Given the description of an element on the screen output the (x, y) to click on. 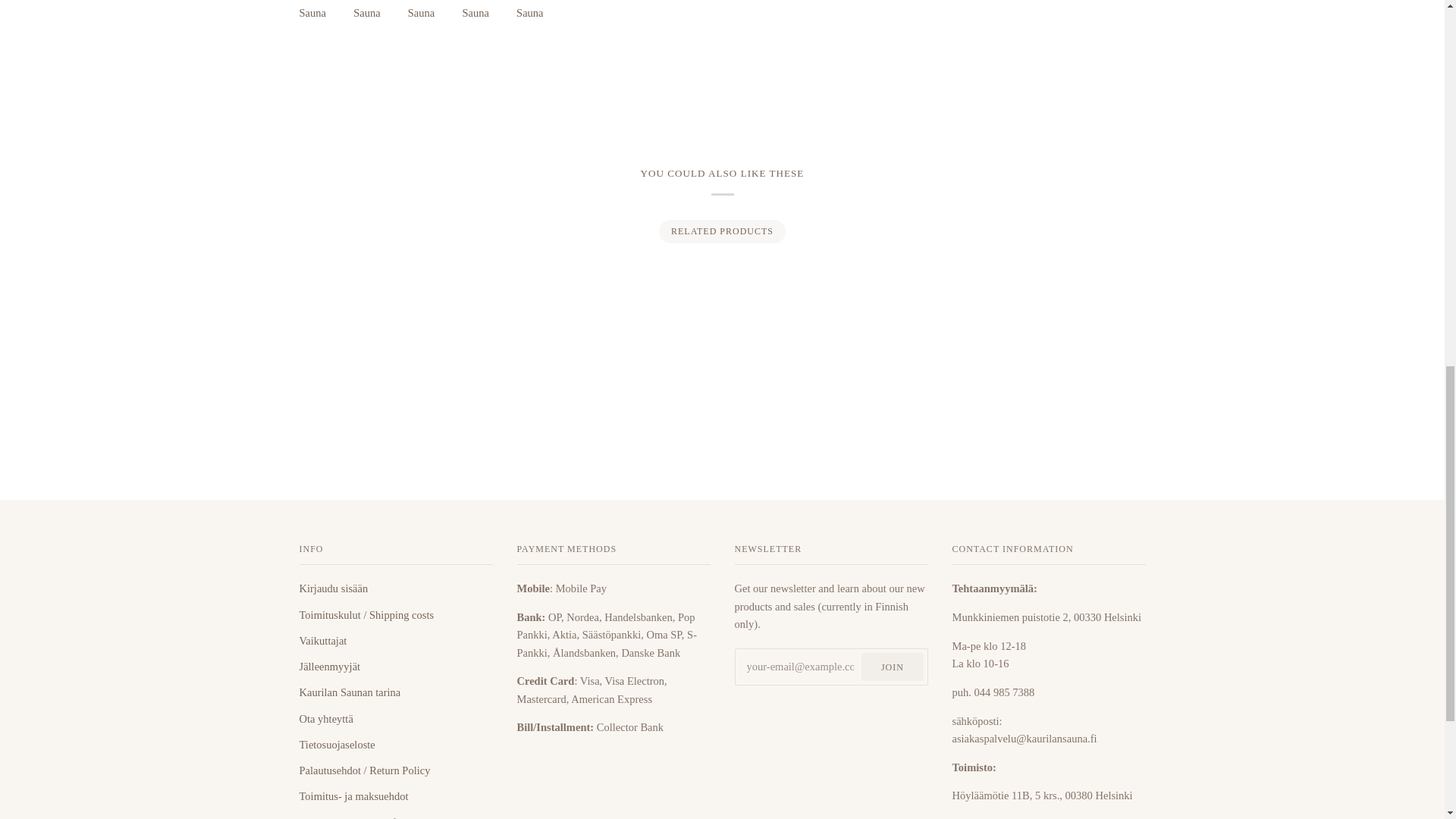
RELATED PRODUCTS (721, 231)
RELATED PRODUCTS (722, 231)
